Given the description of an element on the screen output the (x, y) to click on. 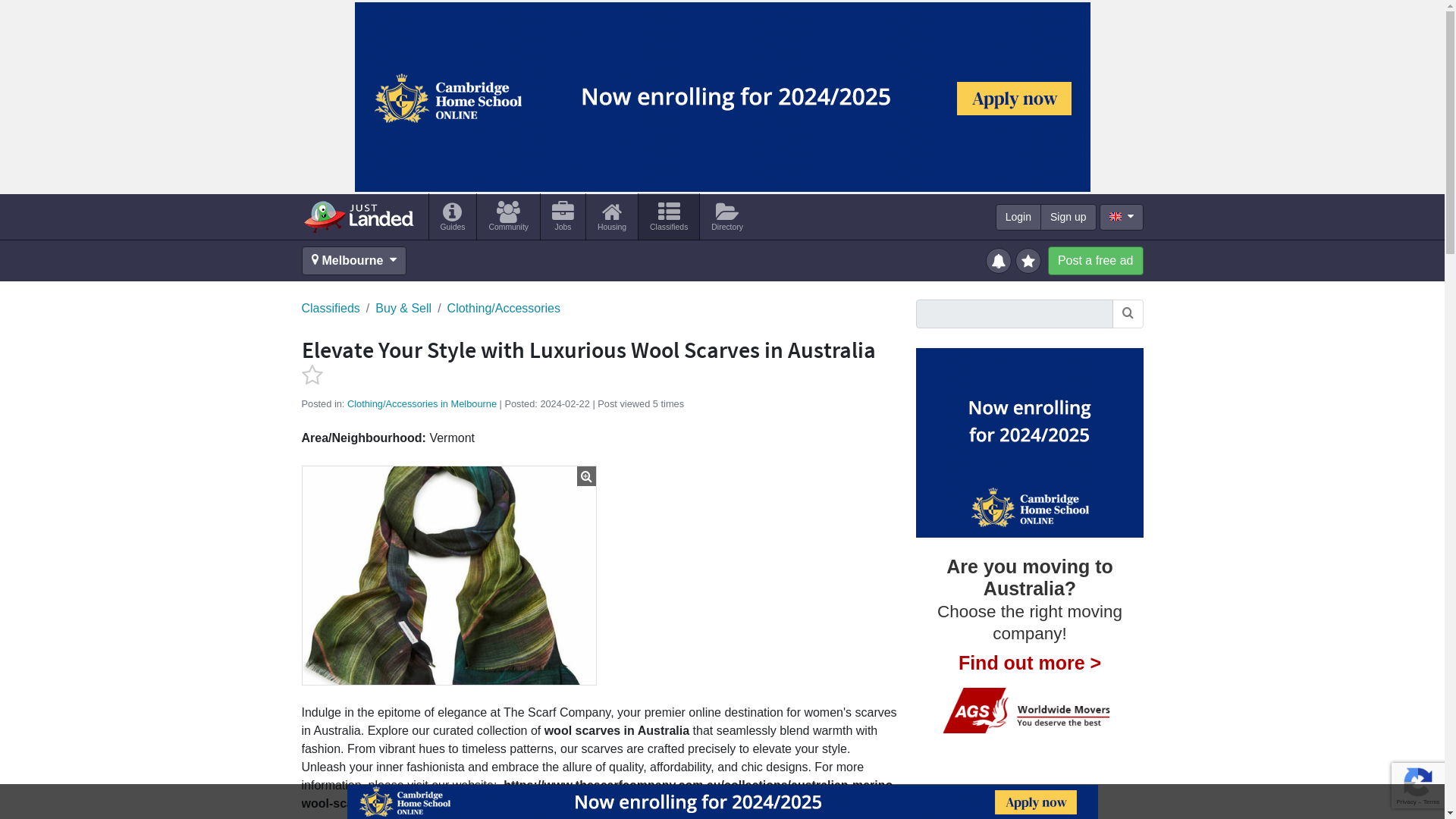
Community (508, 216)
Login (1018, 216)
Jobs (562, 216)
Post a free ad (1095, 260)
Community in Melbourne (508, 216)
Housing (611, 216)
Classifieds in Melbourne (668, 216)
Classifieds (668, 216)
Melbourne (354, 260)
Just Landed (357, 216)
Favourites (1029, 259)
Classifieds (330, 308)
Change location (354, 260)
Guides (453, 216)
